Given the description of an element on the screen output the (x, y) to click on. 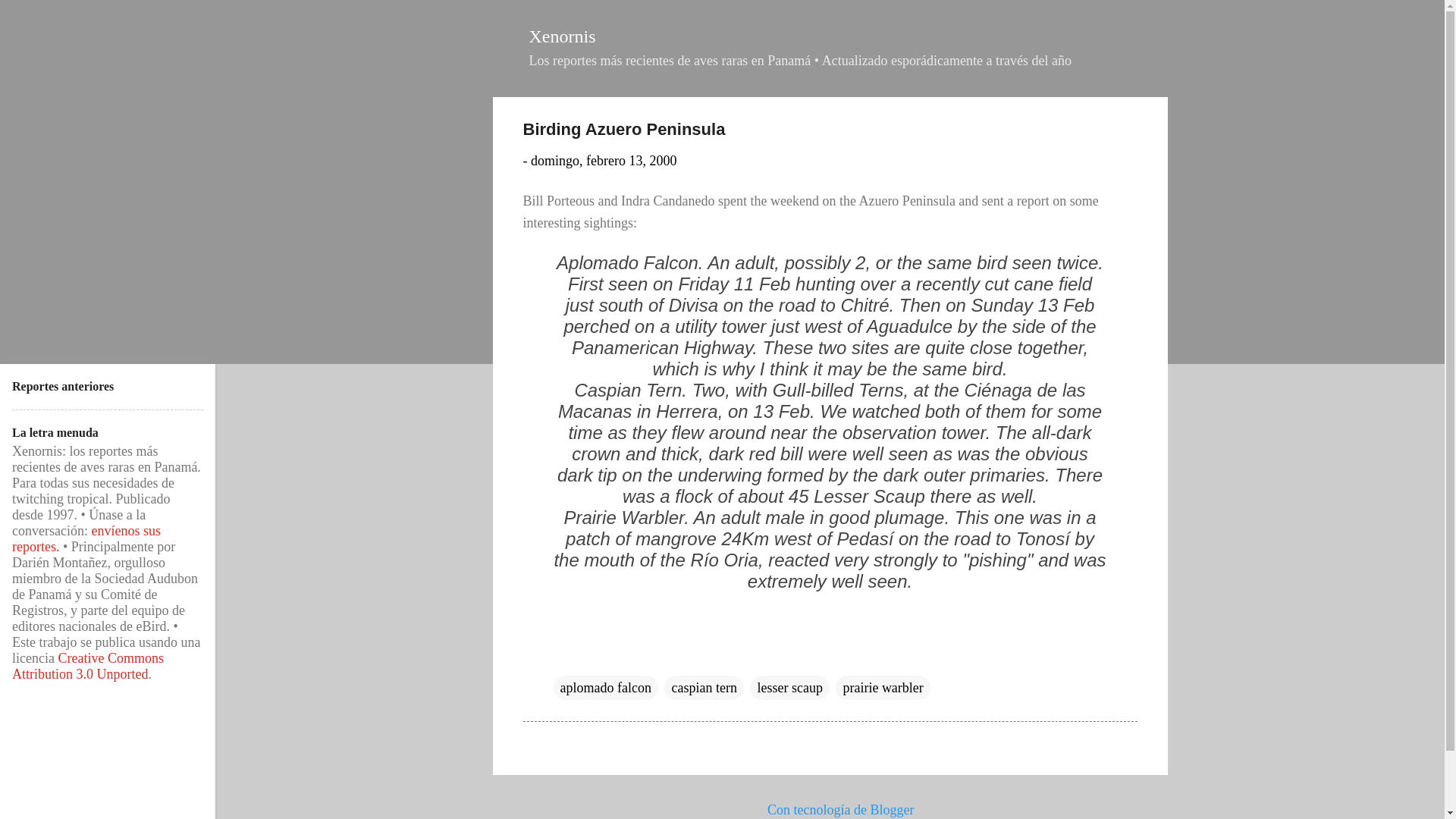
caspian tern (702, 687)
Xenornis (562, 35)
lesser scaup (788, 687)
domingo, febrero 13, 2000 (604, 160)
aplomado falcon (605, 687)
Buscar (34, 18)
permanent link (604, 160)
prairie warbler (882, 687)
